Given the description of an element on the screen output the (x, y) to click on. 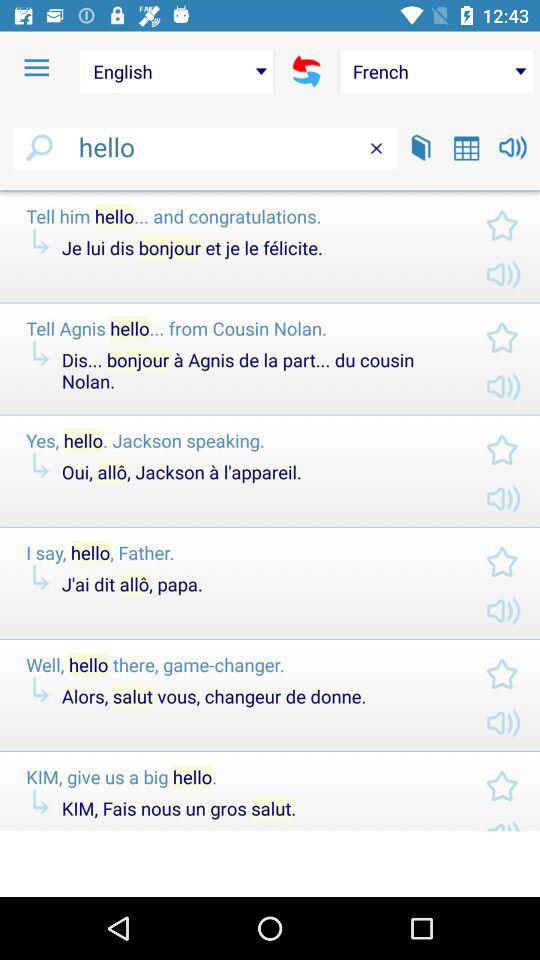
turn off the french item (436, 71)
